Given the description of an element on the screen output the (x, y) to click on. 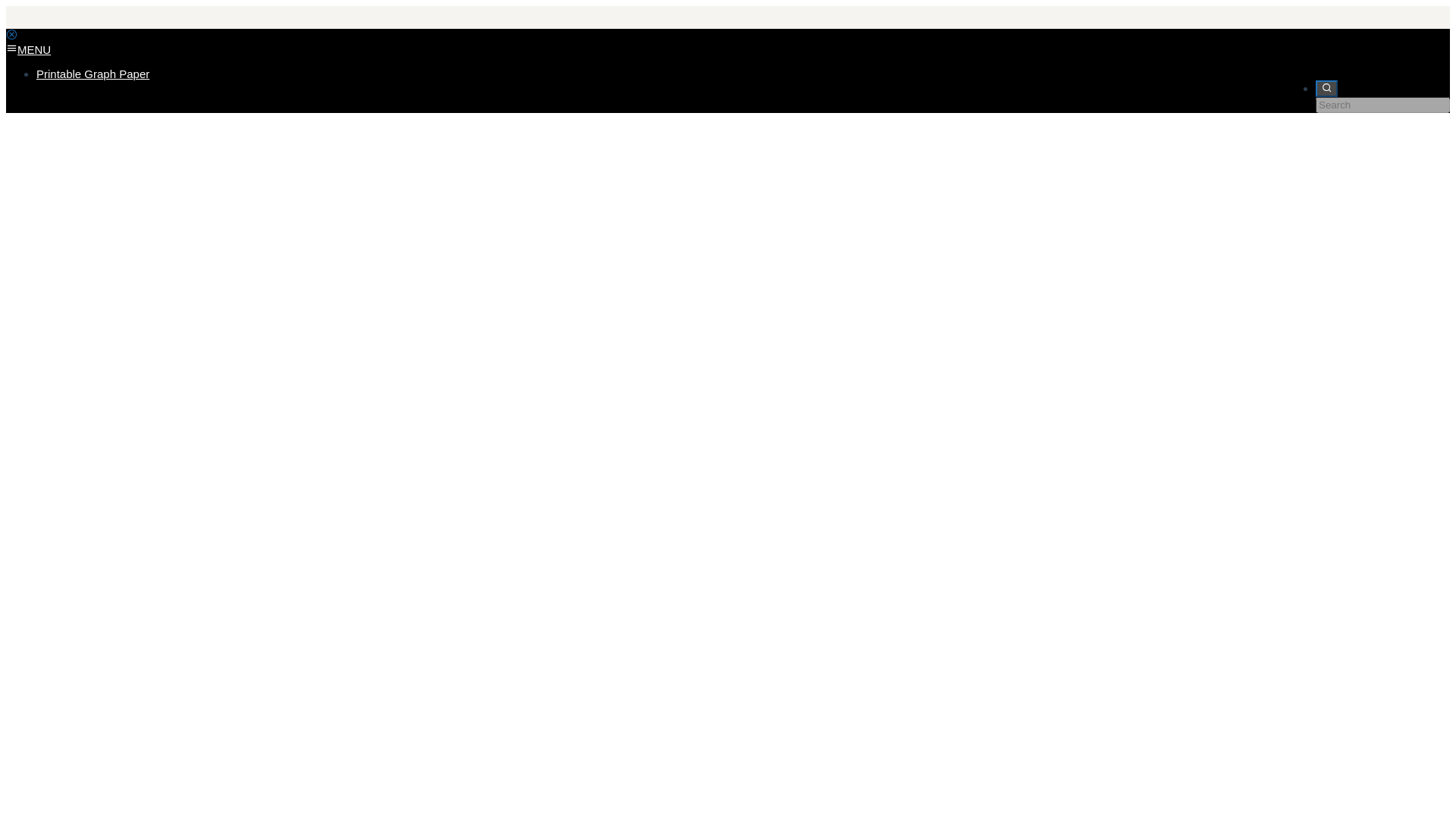
Printable Graph Paper (92, 73)
MENU (27, 49)
Search (1327, 88)
